Given the description of an element on the screen output the (x, y) to click on. 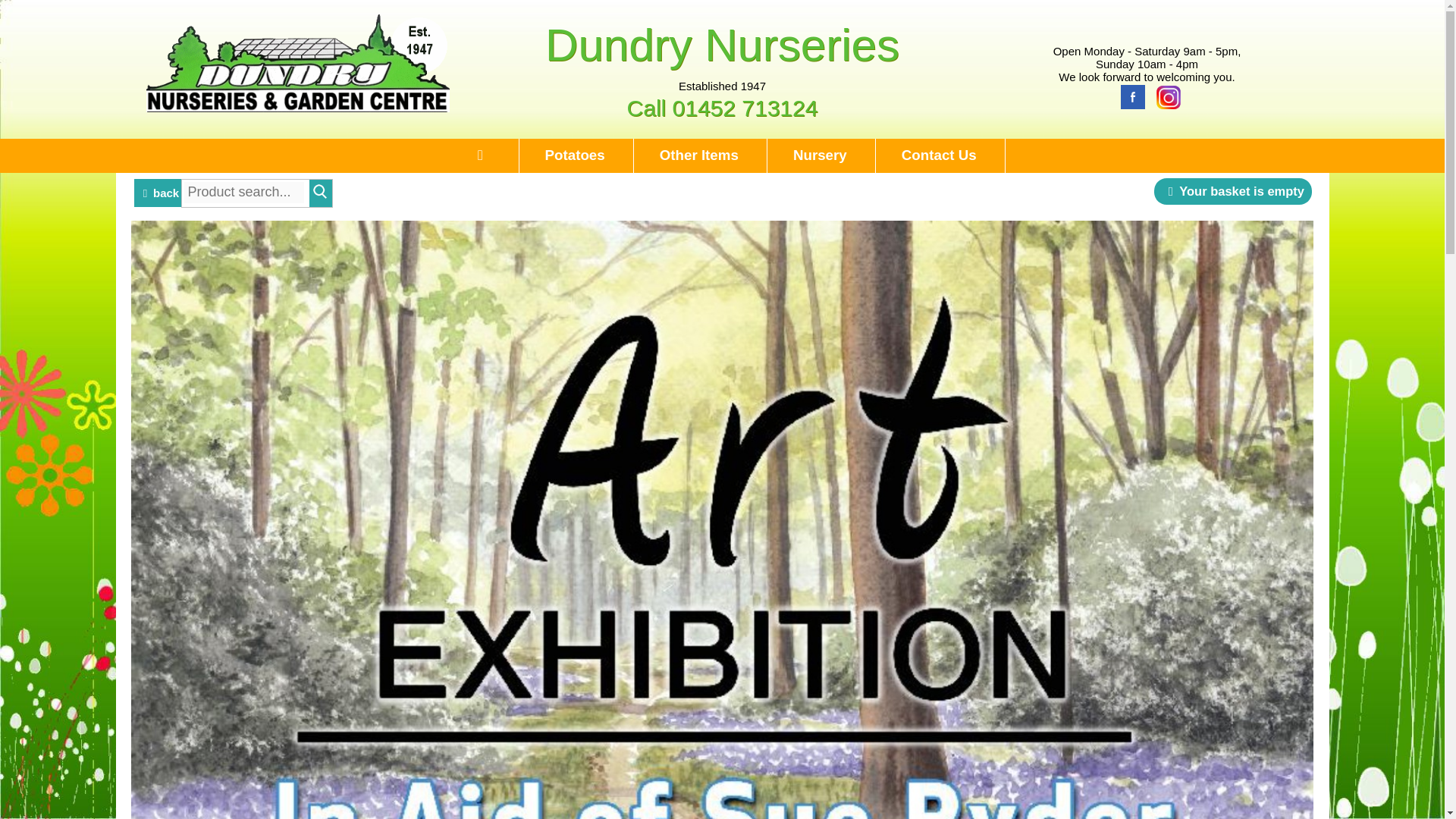
Contact Us (938, 155)
Potatoes (574, 155)
Your basket is empty (1232, 191)
Search (320, 191)
Dundry Nurseries (721, 44)
01452 713124 (745, 107)
Nursery (819, 155)
Other Items (698, 155)
back (157, 182)
